Given the description of an element on the screen output the (x, y) to click on. 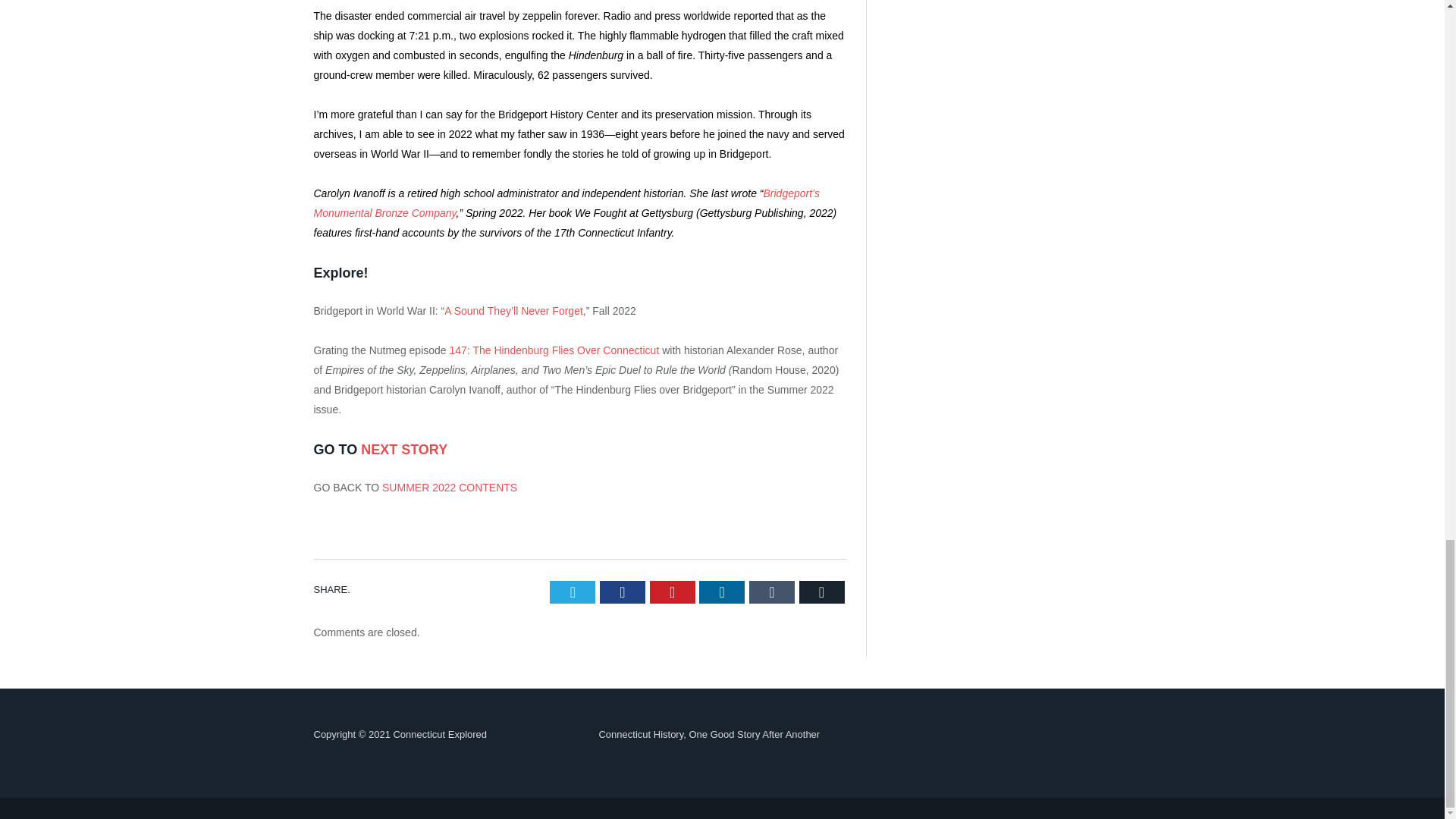
View on Facebook (925, 788)
View on Facebook (925, 443)
Share (986, 443)
Share (986, 788)
